Given the description of an element on the screen output the (x, y) to click on. 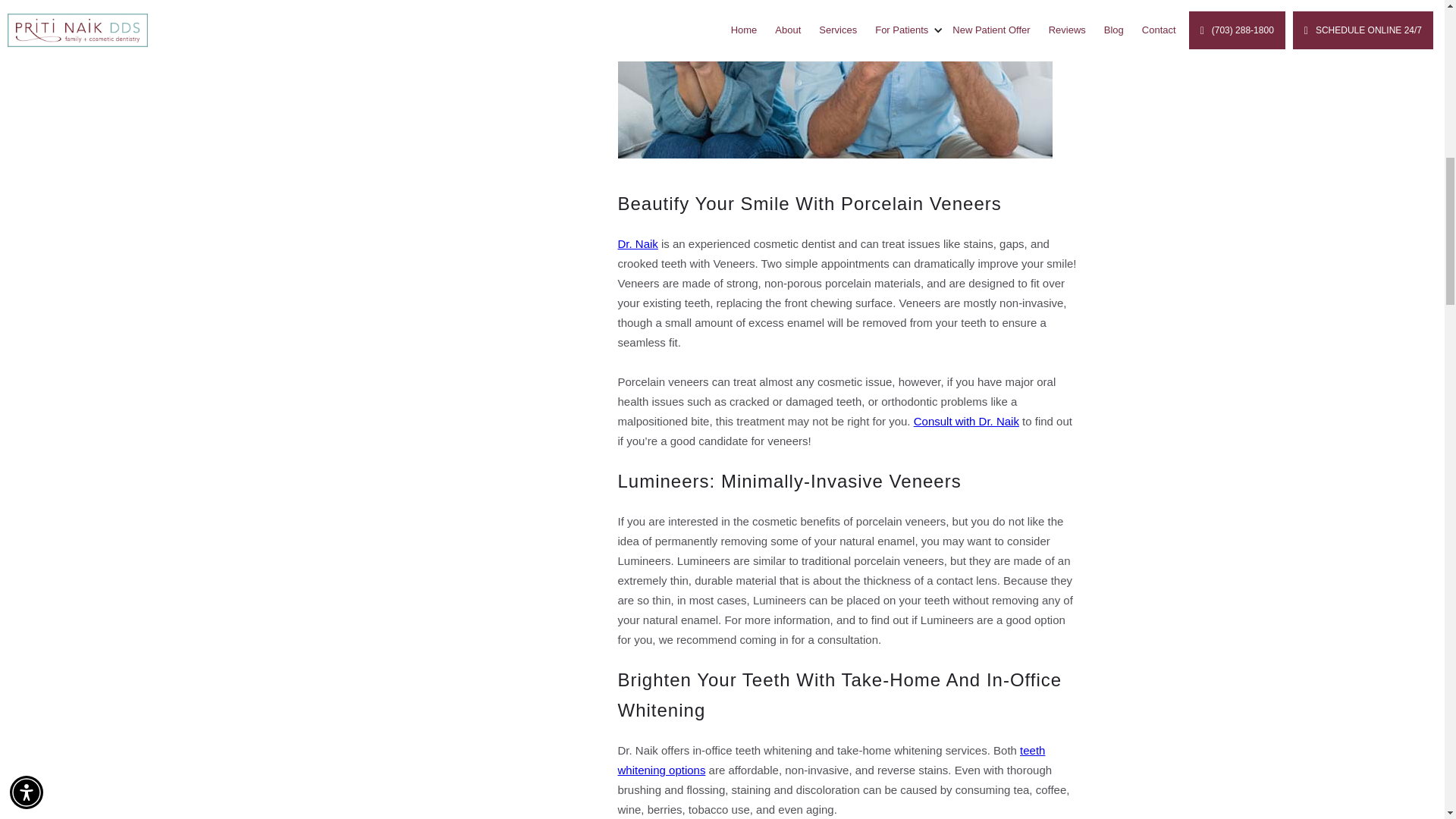
Dr. Naik (637, 243)
Consult with Dr. Naik (966, 420)
teeth whitening options (831, 759)
